Given the description of an element on the screen output the (x, y) to click on. 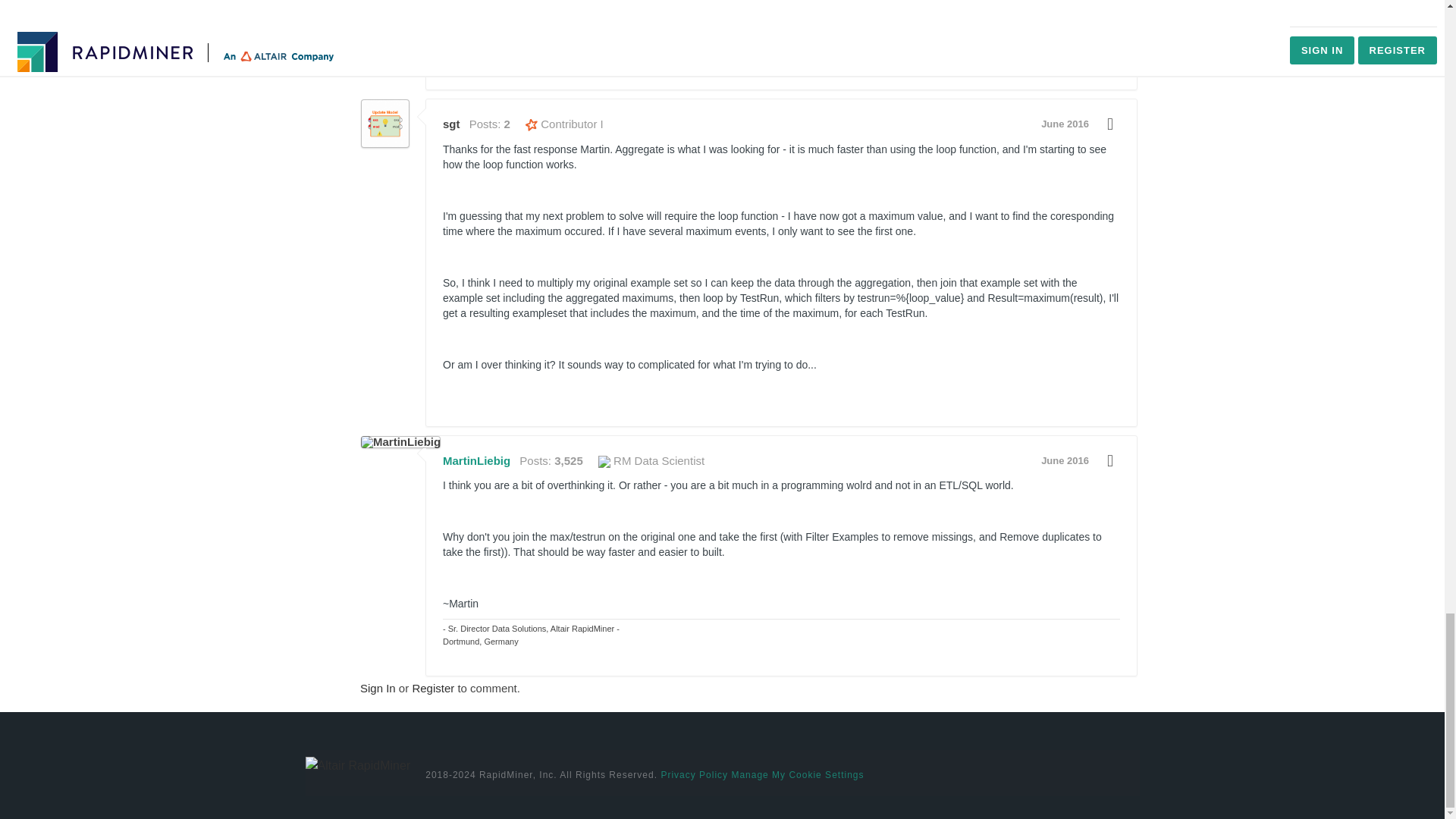
Contributor I (564, 123)
sgt (385, 123)
